Given the description of an element on the screen output the (x, y) to click on. 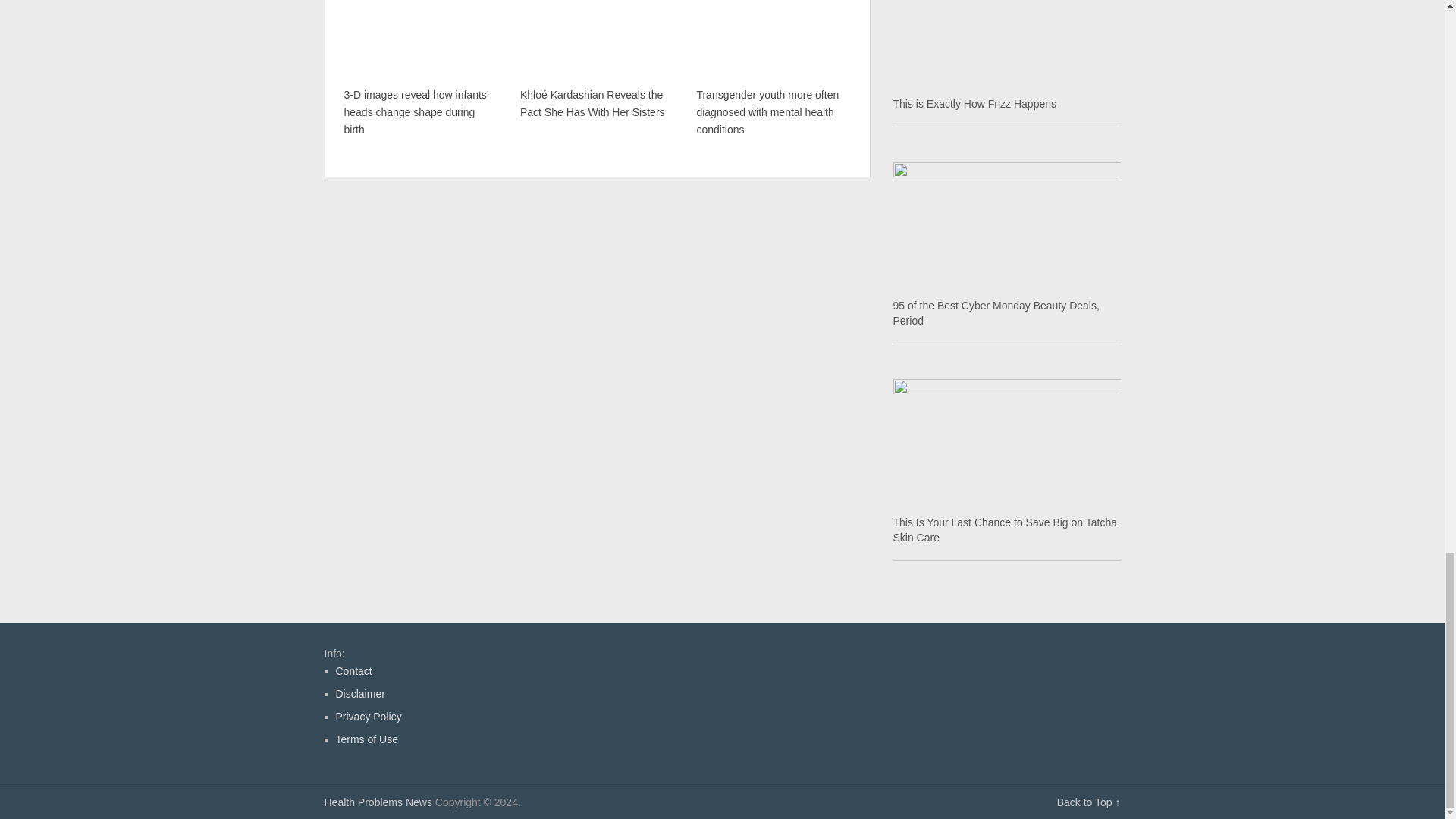
This is Exactly How Frizz Happens (1007, 44)
